Given the description of an element on the screen output the (x, y) to click on. 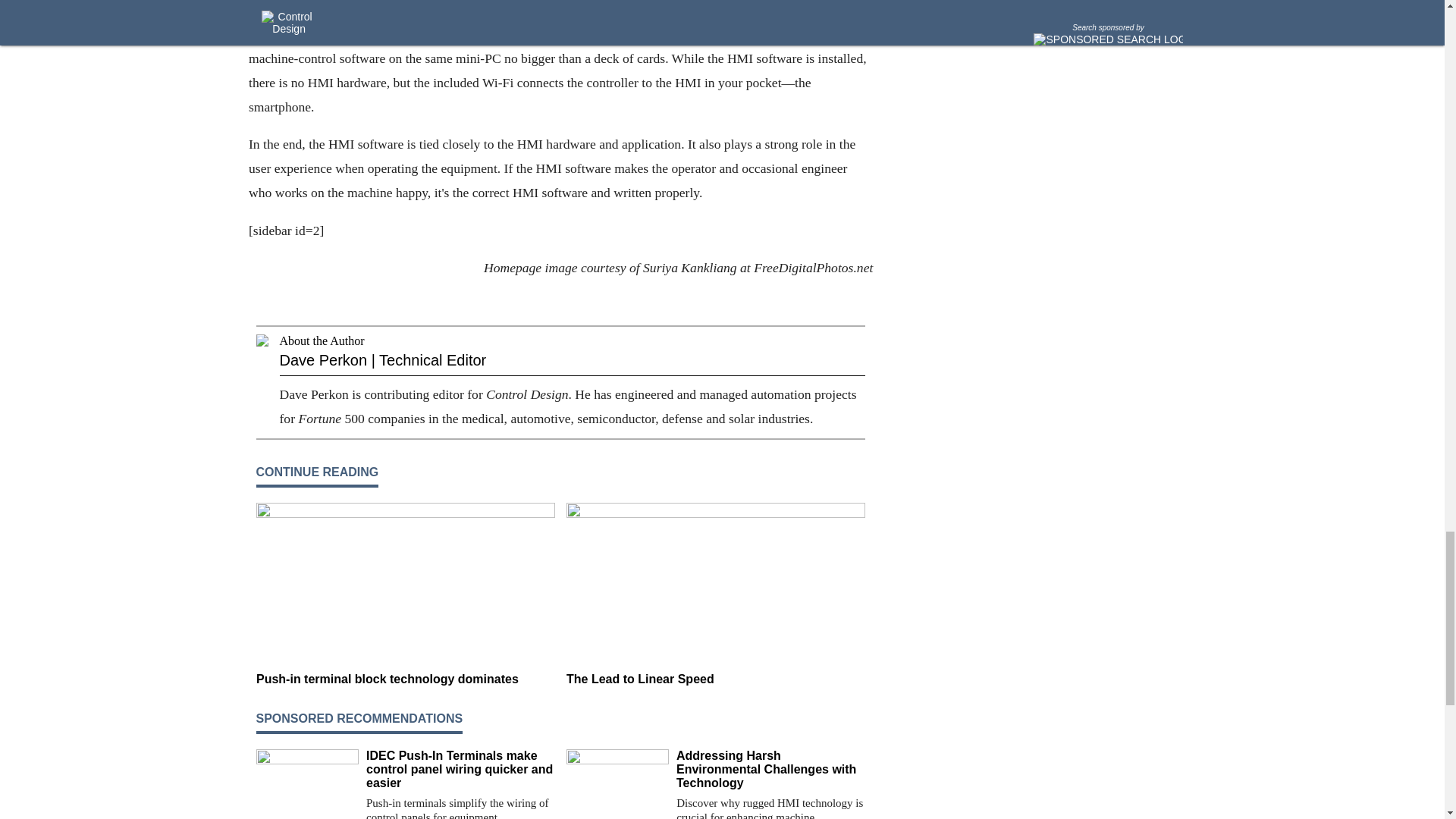
Push-in terminal block technology dominates (405, 679)
Addressing Harsh Environmental Challenges with Technology (770, 769)
The Lead to Linear Speed (715, 679)
